Given the description of an element on the screen output the (x, y) to click on. 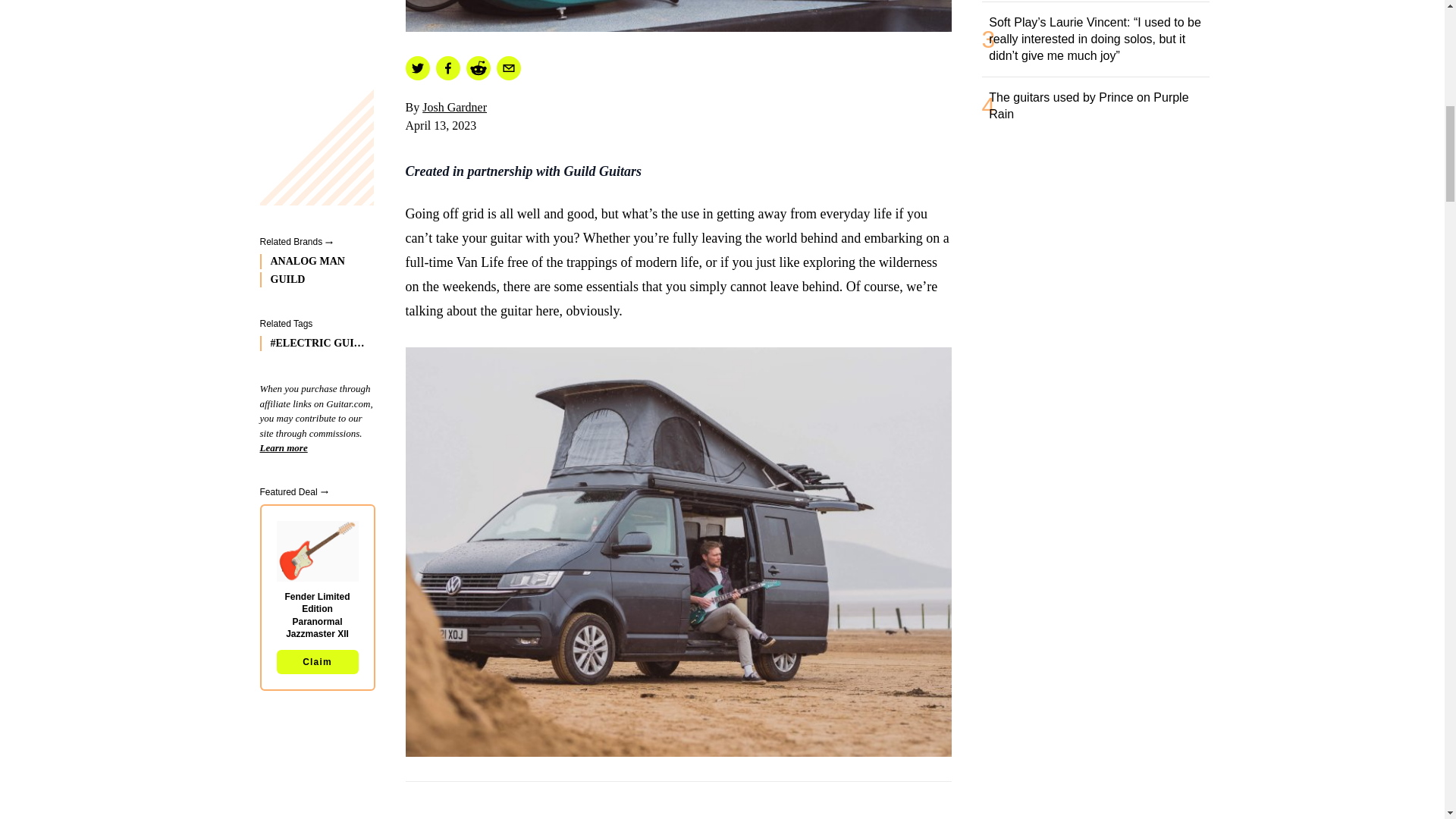
Claim (317, 77)
Published April 13, 2023 2:00PM (677, 126)
Josh Gardner (454, 106)
